Given the description of an element on the screen output the (x, y) to click on. 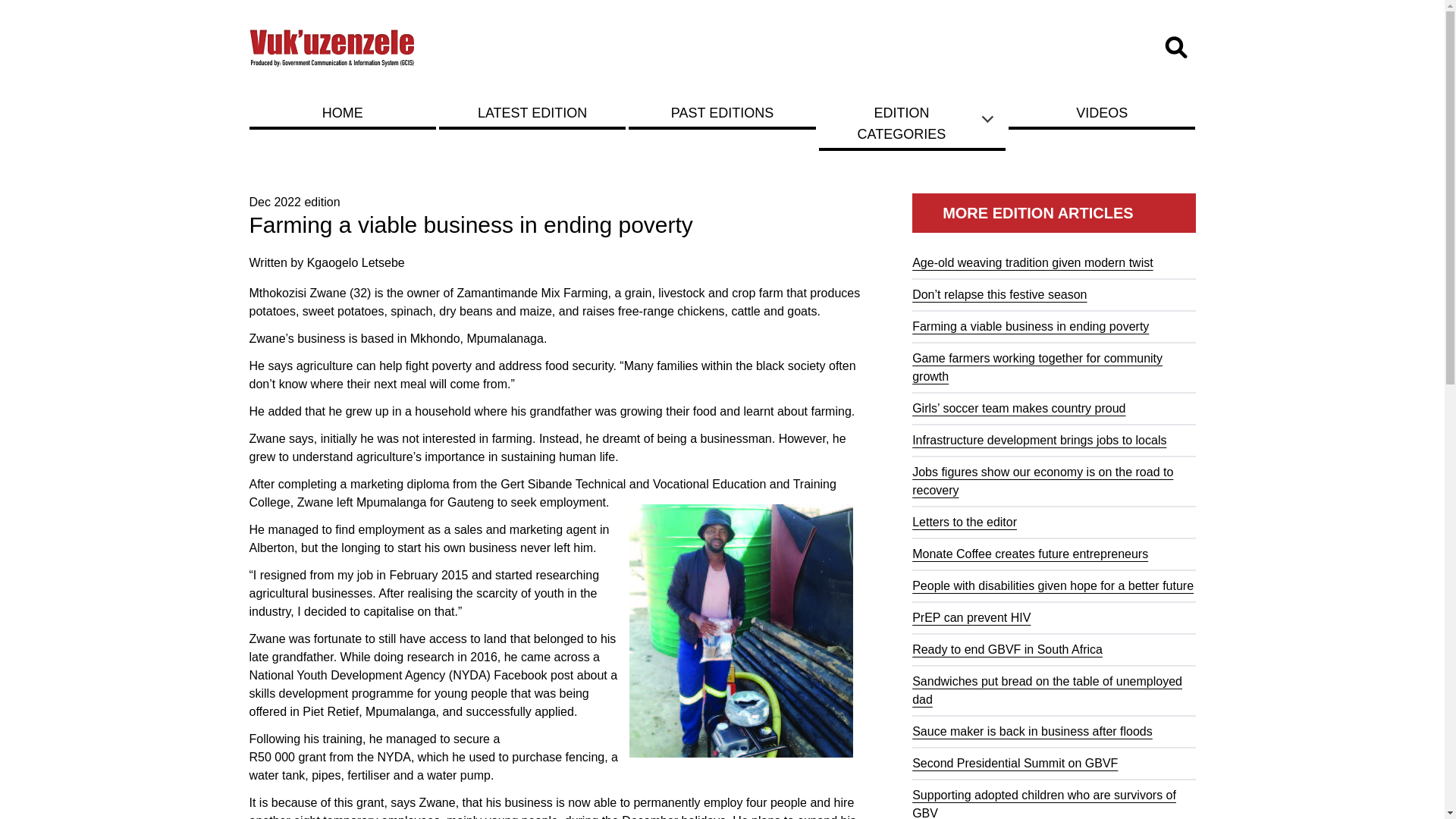
HOME (341, 112)
VIDEOS (1102, 112)
LATEST EDITION (532, 112)
Redirect to the latest Book (532, 112)
Home (331, 47)
PAST EDITIONS (721, 112)
